Given the description of an element on the screen output the (x, y) to click on. 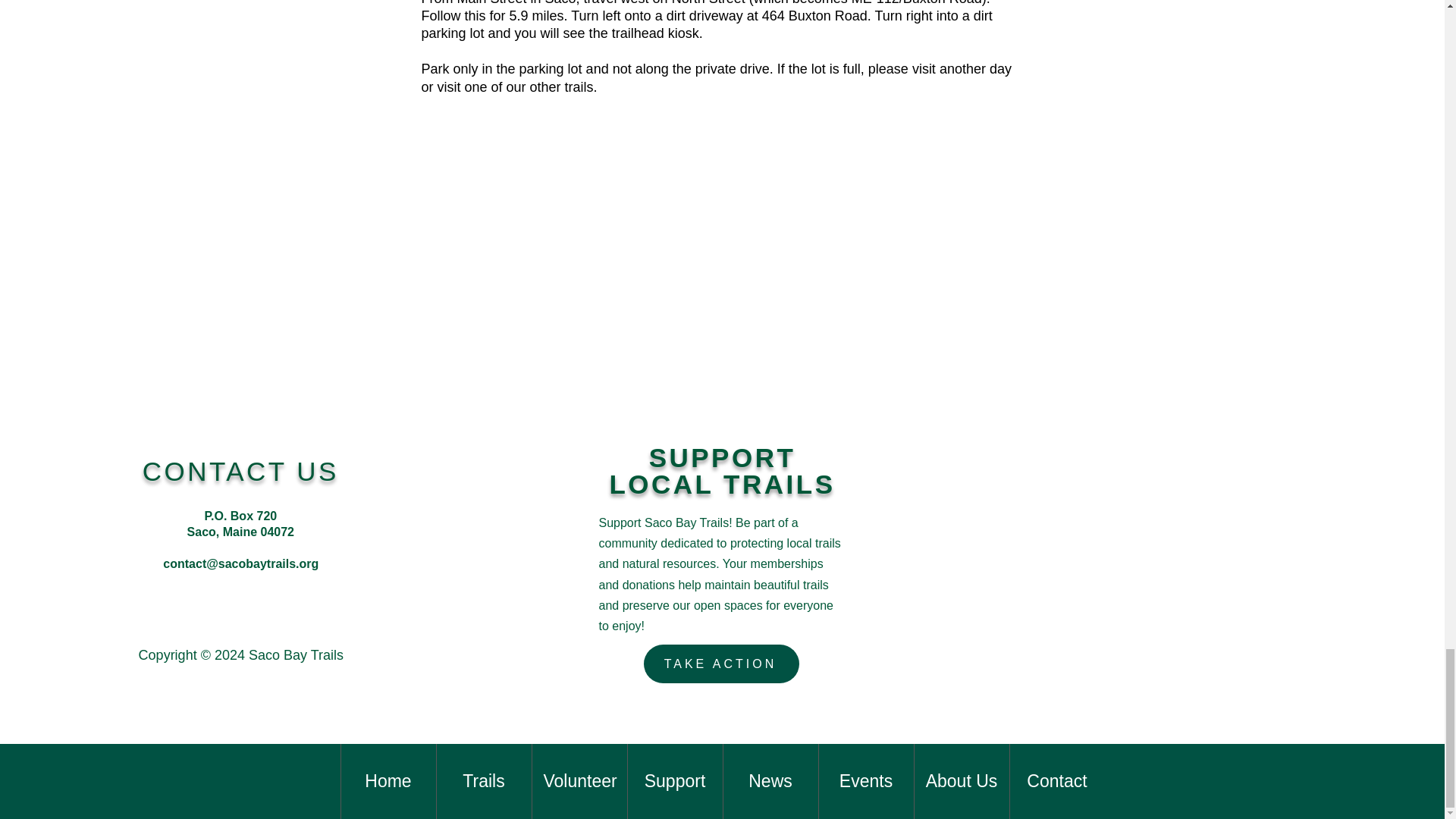
TAKE ACTION (721, 663)
